Given the description of an element on the screen output the (x, y) to click on. 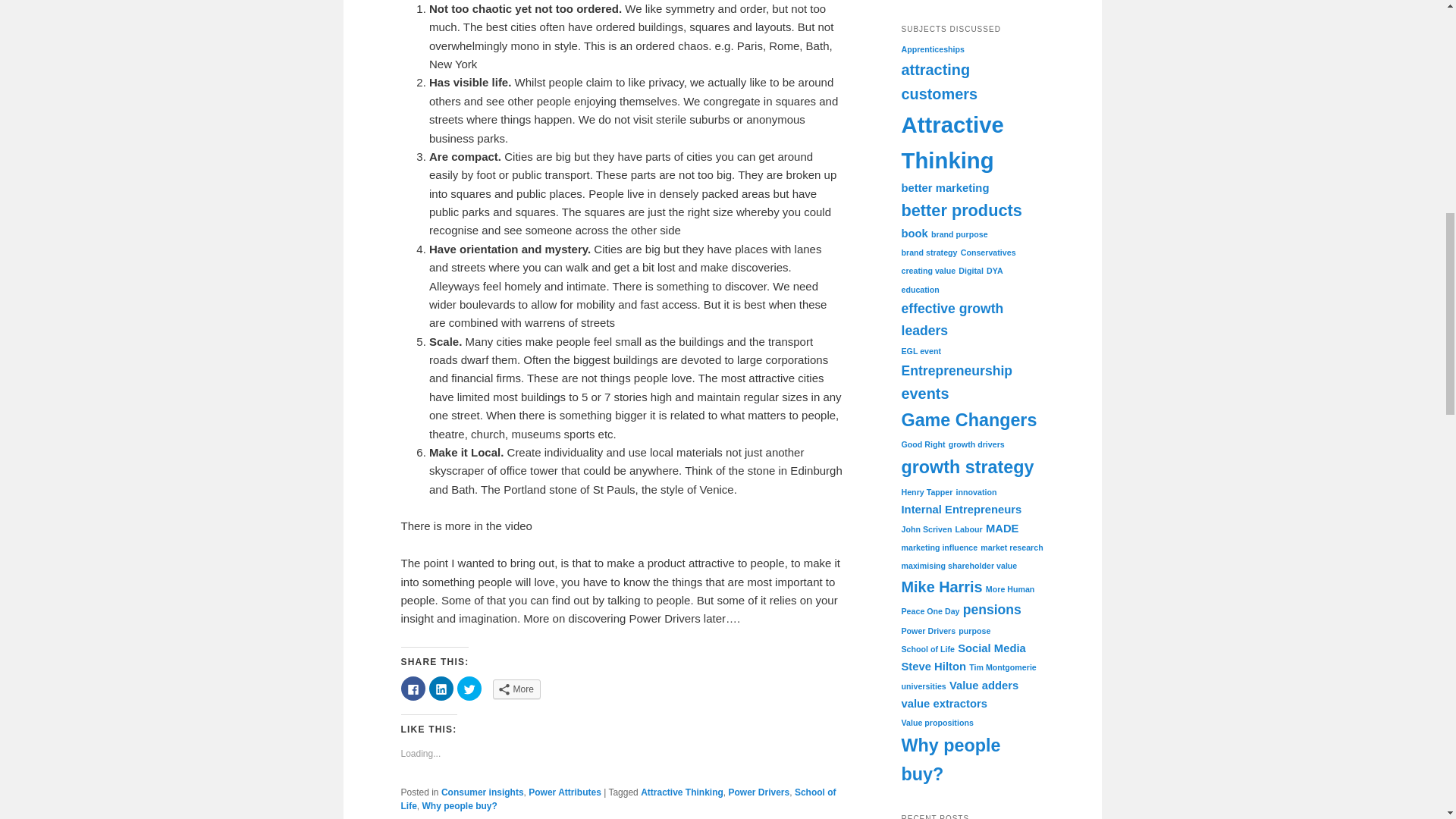
Click to share on Twitter (468, 688)
Attractive Thinking (681, 792)
Consumer insights (482, 792)
Why people buy? (459, 805)
Power Drivers (758, 792)
School of Life (617, 799)
Power Attributes (564, 792)
Click to share on LinkedIn (440, 688)
More (516, 689)
Attractive Thinking (952, 142)
